Given the description of an element on the screen output the (x, y) to click on. 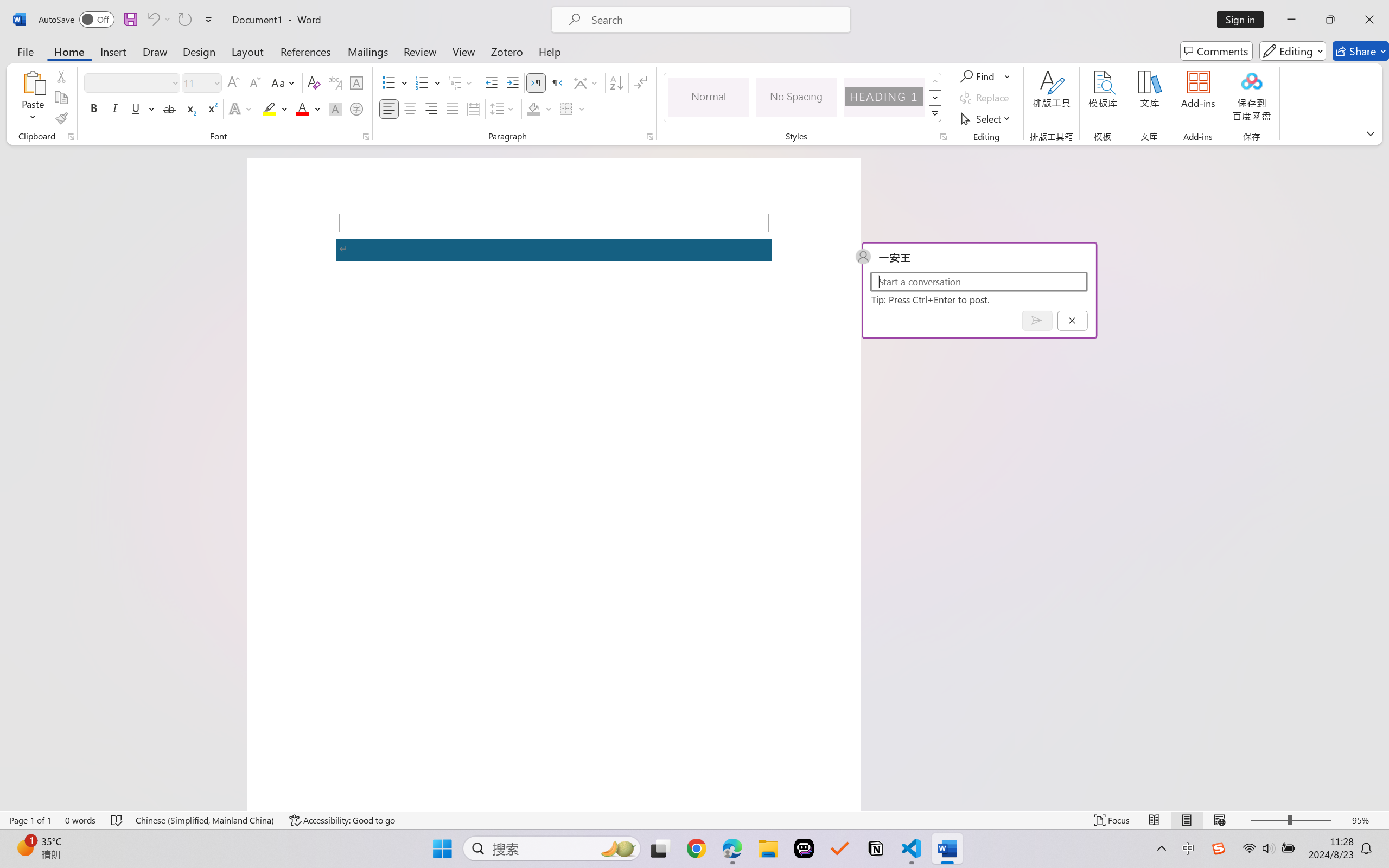
Font Color RGB(255, 0, 0) (302, 108)
